Given the description of an element on the screen output the (x, y) to click on. 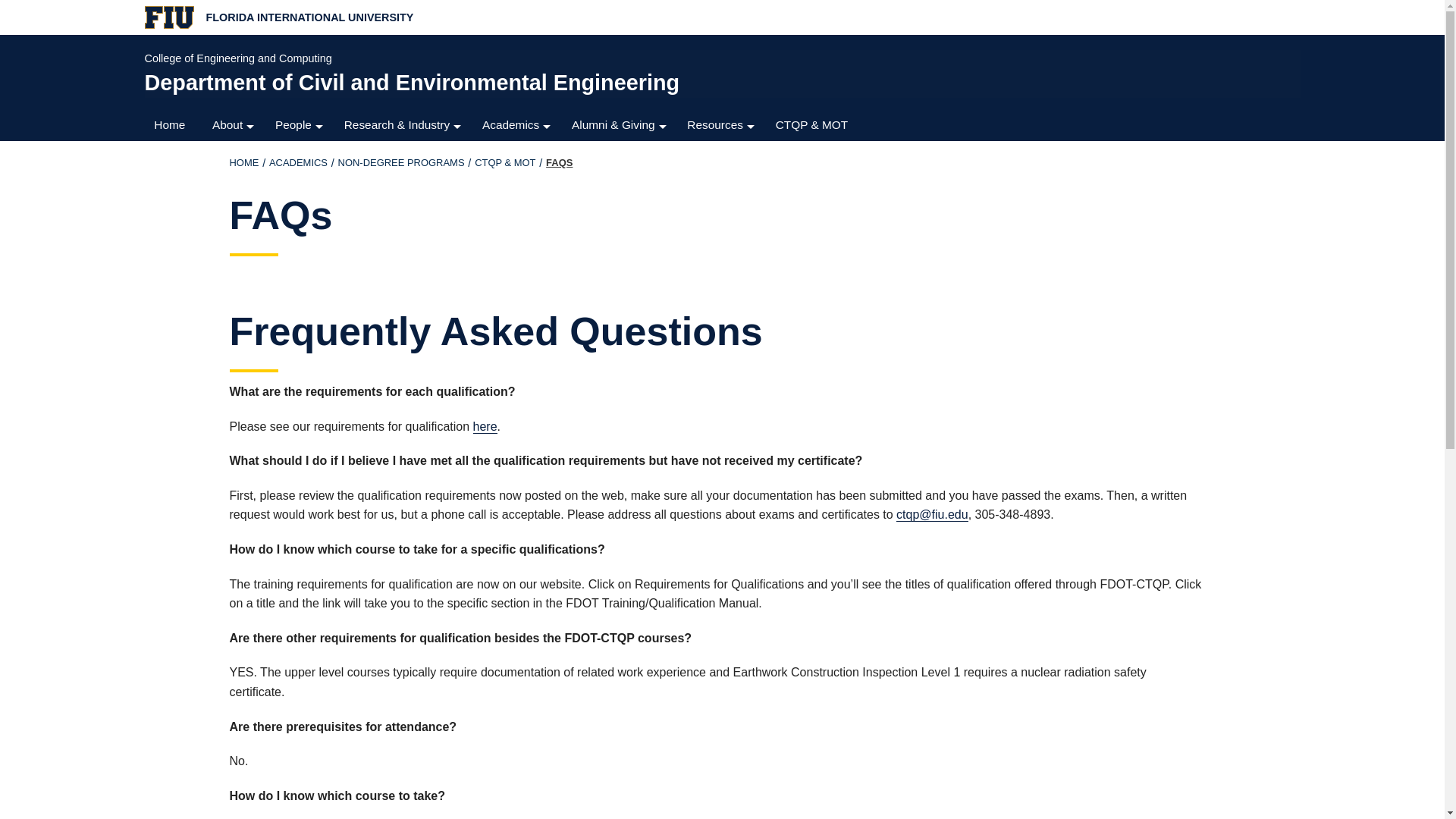
Home (173, 124)
Class Schedules (721, 155)
Funding Agencies (402, 216)
Professional Societies (721, 277)
Academics (516, 124)
Research Resources (402, 186)
College of Engineering and Computing (716, 58)
Non-Degree Programs (400, 162)
Department of Civil and Environmental Engineering (716, 82)
Events (233, 216)
